Given the description of an element on the screen output the (x, y) to click on. 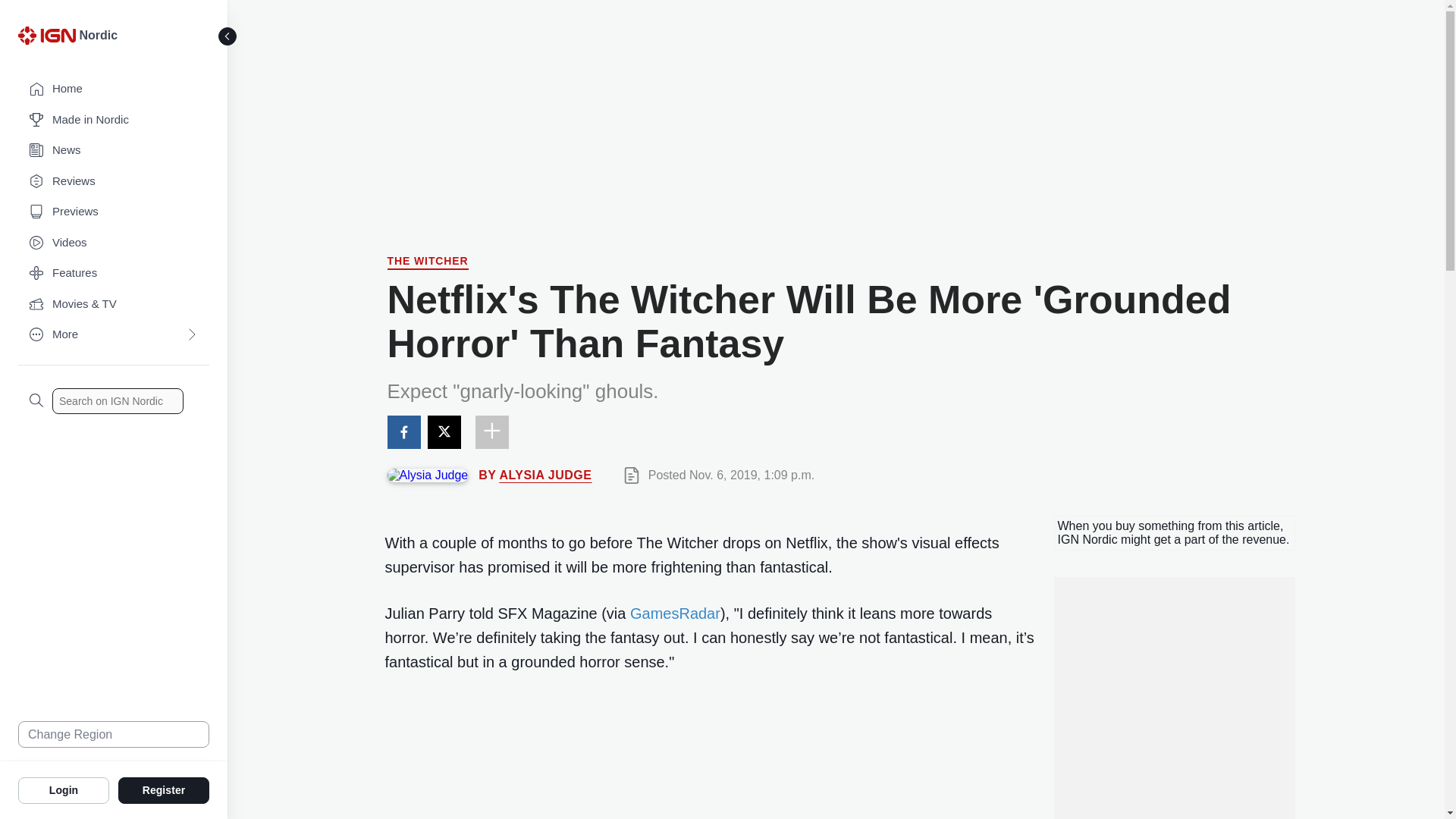
GamesRadar (675, 613)
Home (113, 89)
Made in Nordic (113, 119)
ALYSIA JUDGE (545, 474)
3rd party ad content (835, 110)
Toggle Sidebar (226, 36)
Videos (113, 242)
More (113, 334)
News (113, 150)
Previews (113, 211)
Reviews (113, 181)
IGN Logo (48, 39)
Features (113, 273)
Register (163, 789)
